Given the description of an element on the screen output the (x, y) to click on. 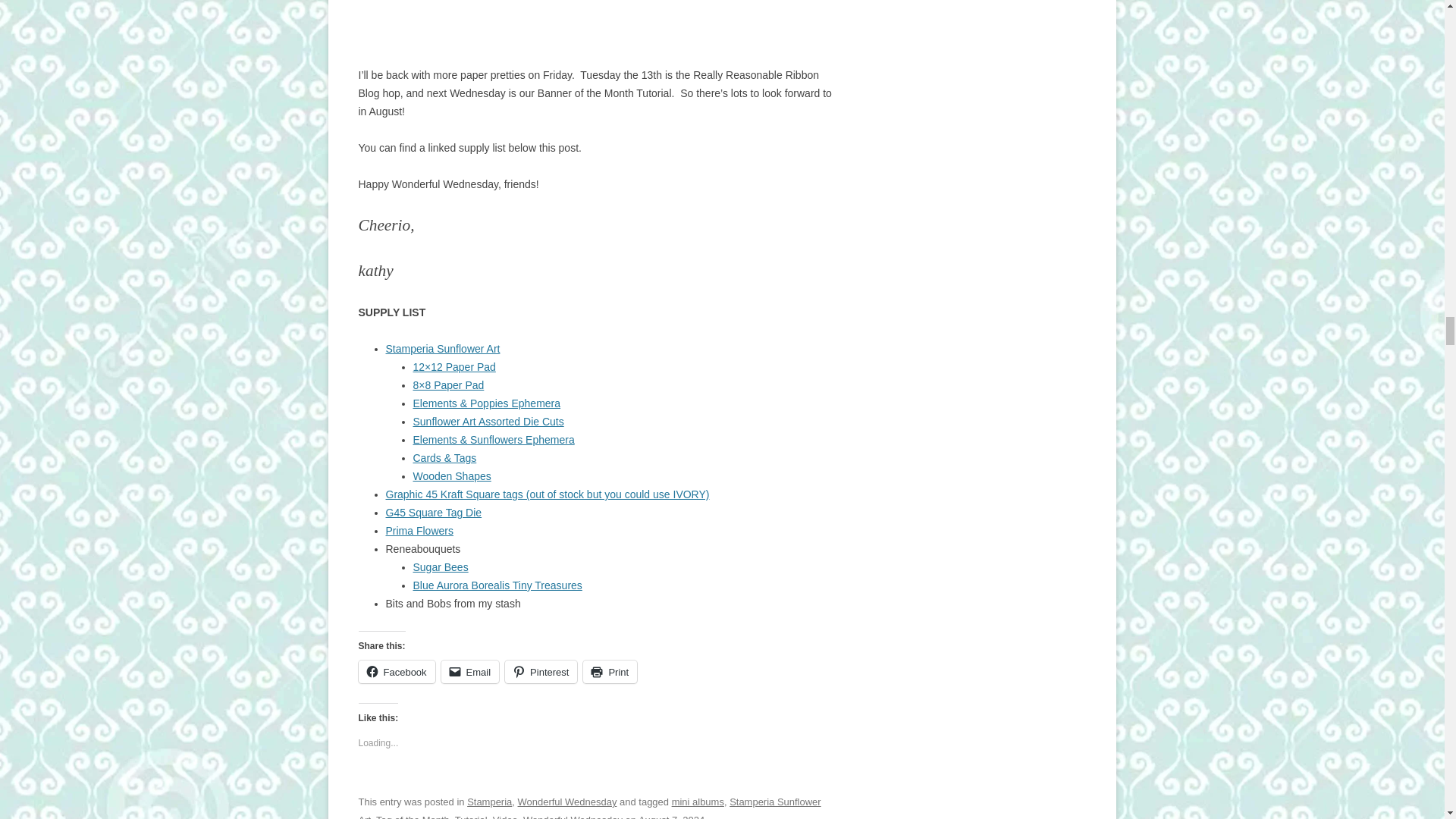
Click to email a link to a friend (470, 671)
Click to share on Facebook (395, 671)
Click to print (610, 671)
Click to share on Pinterest (540, 671)
6:00 AM (671, 816)
